Given the description of an element on the screen output the (x, y) to click on. 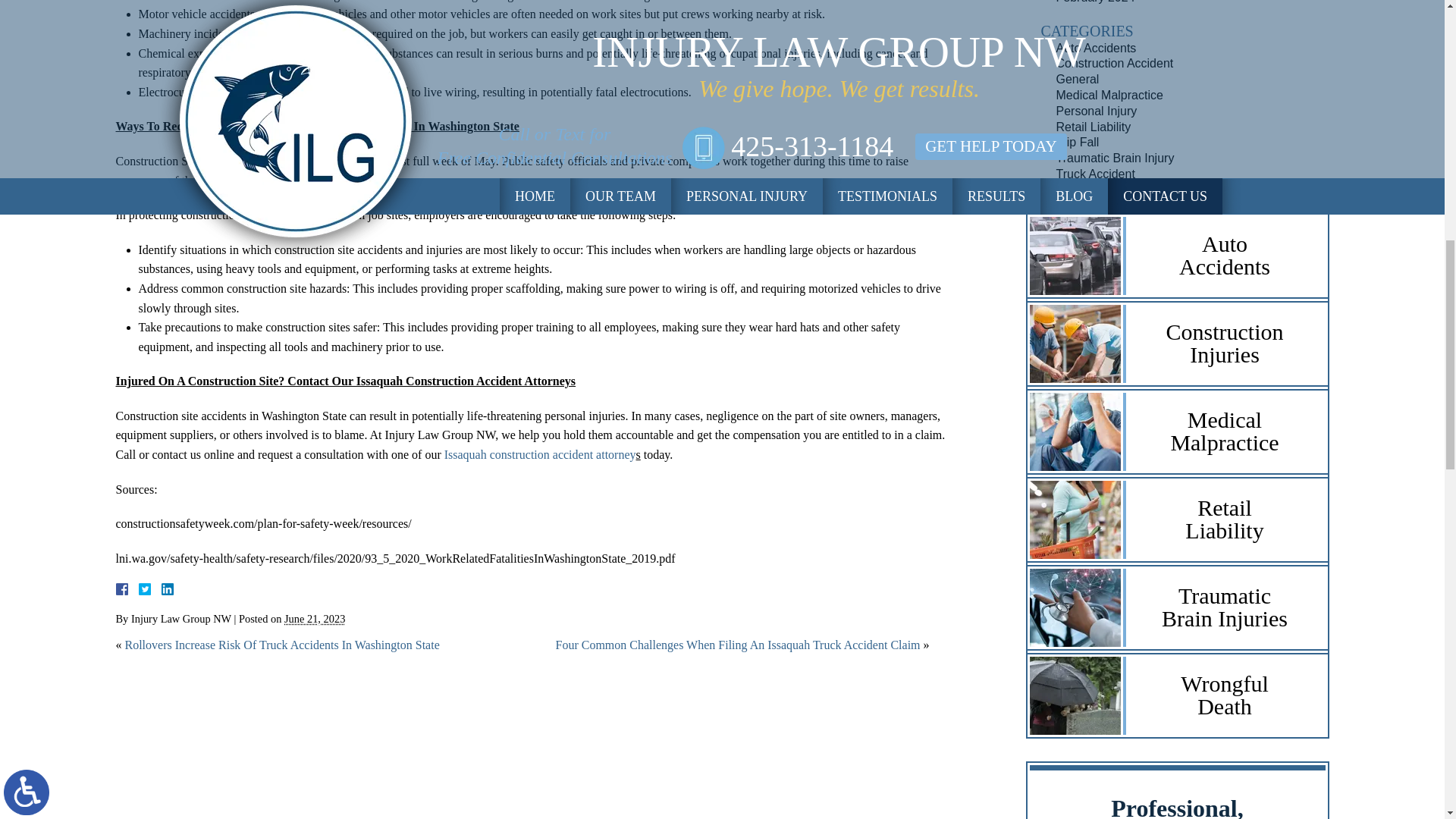
LinkedIn (160, 589)
Facebook (139, 589)
Twitter (149, 589)
Issaquah construction accident attorney (540, 454)
2023-06-21T03:00:46-0700 (314, 618)
